Given the description of an element on the screen output the (x, y) to click on. 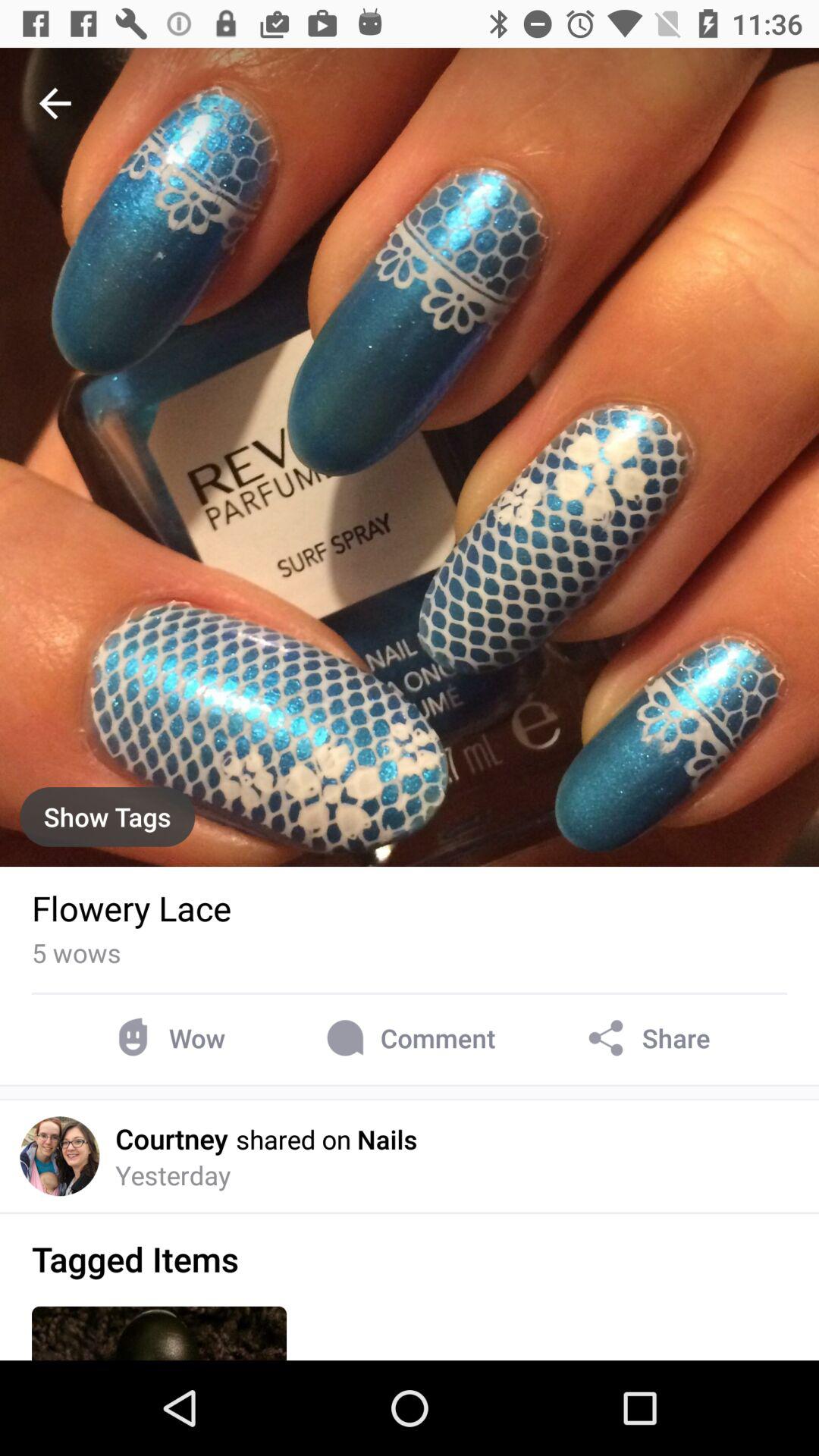
open picture (409, 456)
